Given the description of an element on the screen output the (x, y) to click on. 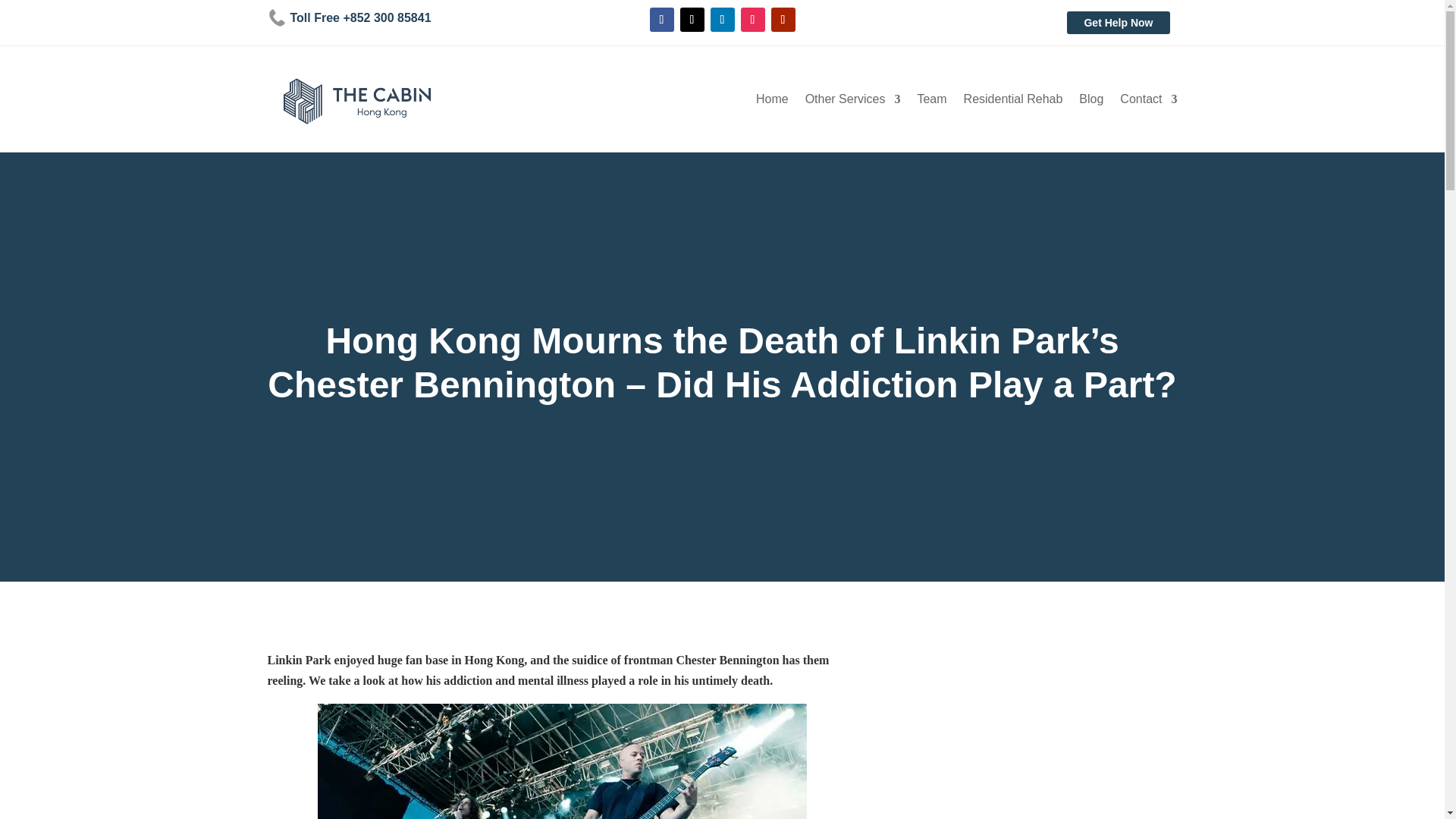
Follow on Youtube (782, 19)
Get Help Now (1118, 22)
Follow on Instagram (751, 19)
Follow on LinkedIn (721, 19)
Blog (1090, 102)
Other Services (853, 102)
Follow on X (691, 19)
Contact (1147, 102)
Follow on Facebook (660, 19)
Team (931, 102)
